Given the description of an element on the screen output the (x, y) to click on. 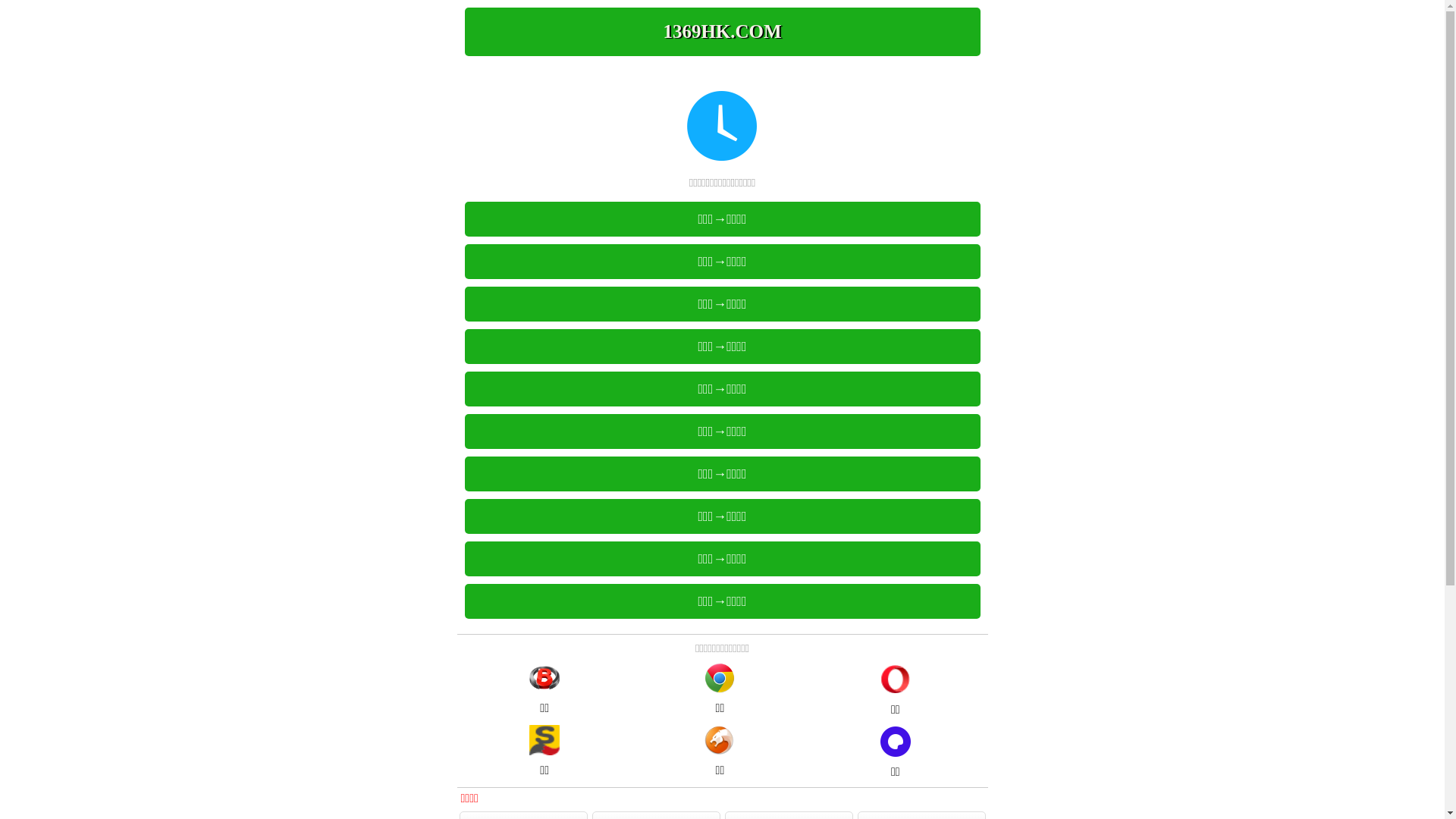
1369HK.COM Element type: text (721, 31)
